Given the description of an element on the screen output the (x, y) to click on. 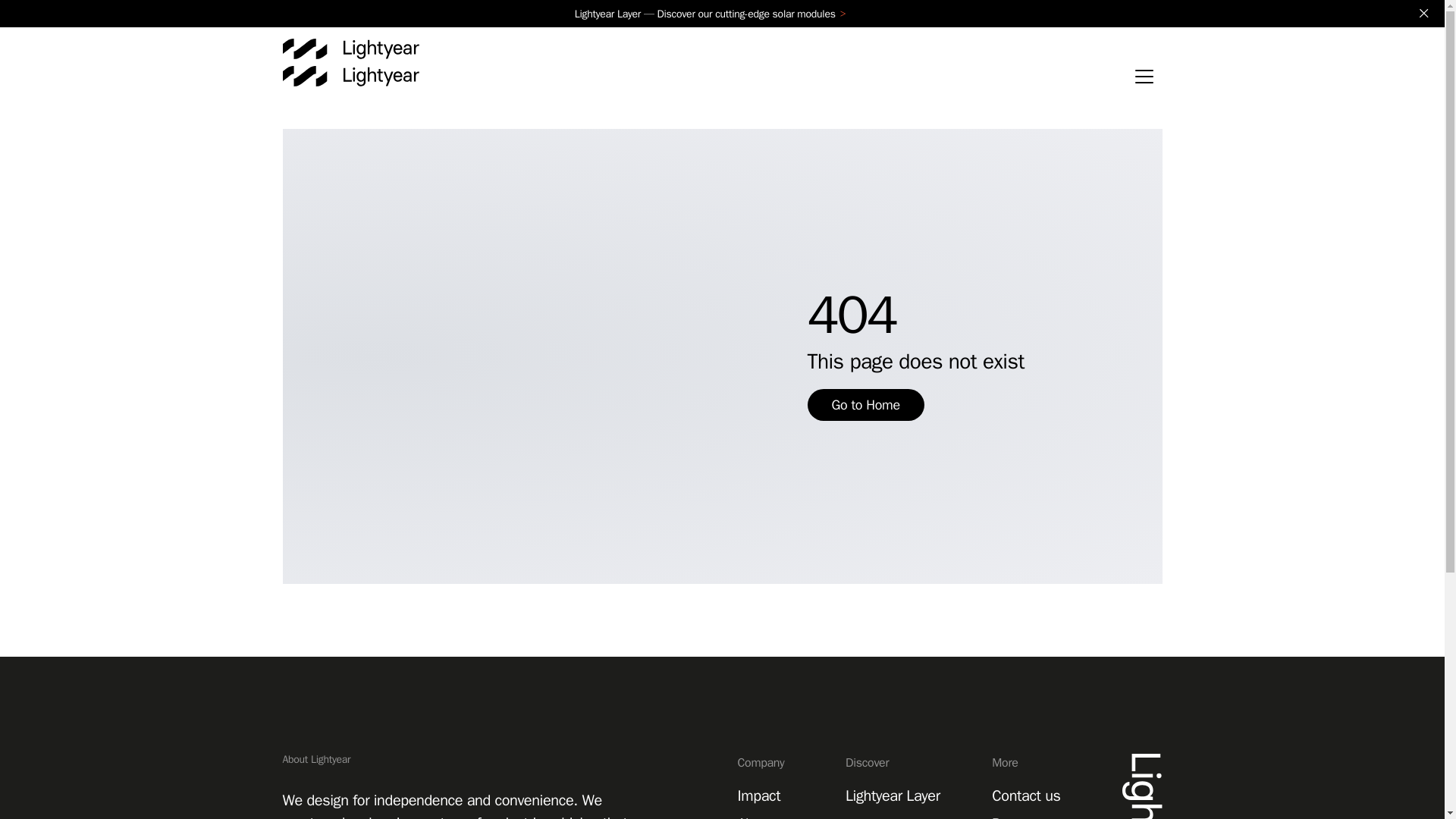
Impact (758, 795)
Press (1009, 816)
Lightyear Layer (892, 795)
Go to Home (864, 404)
About us (764, 816)
Company (769, 768)
More (1030, 768)
Discover (897, 768)
Contact us (1025, 795)
